Given the description of an element on the screen output the (x, y) to click on. 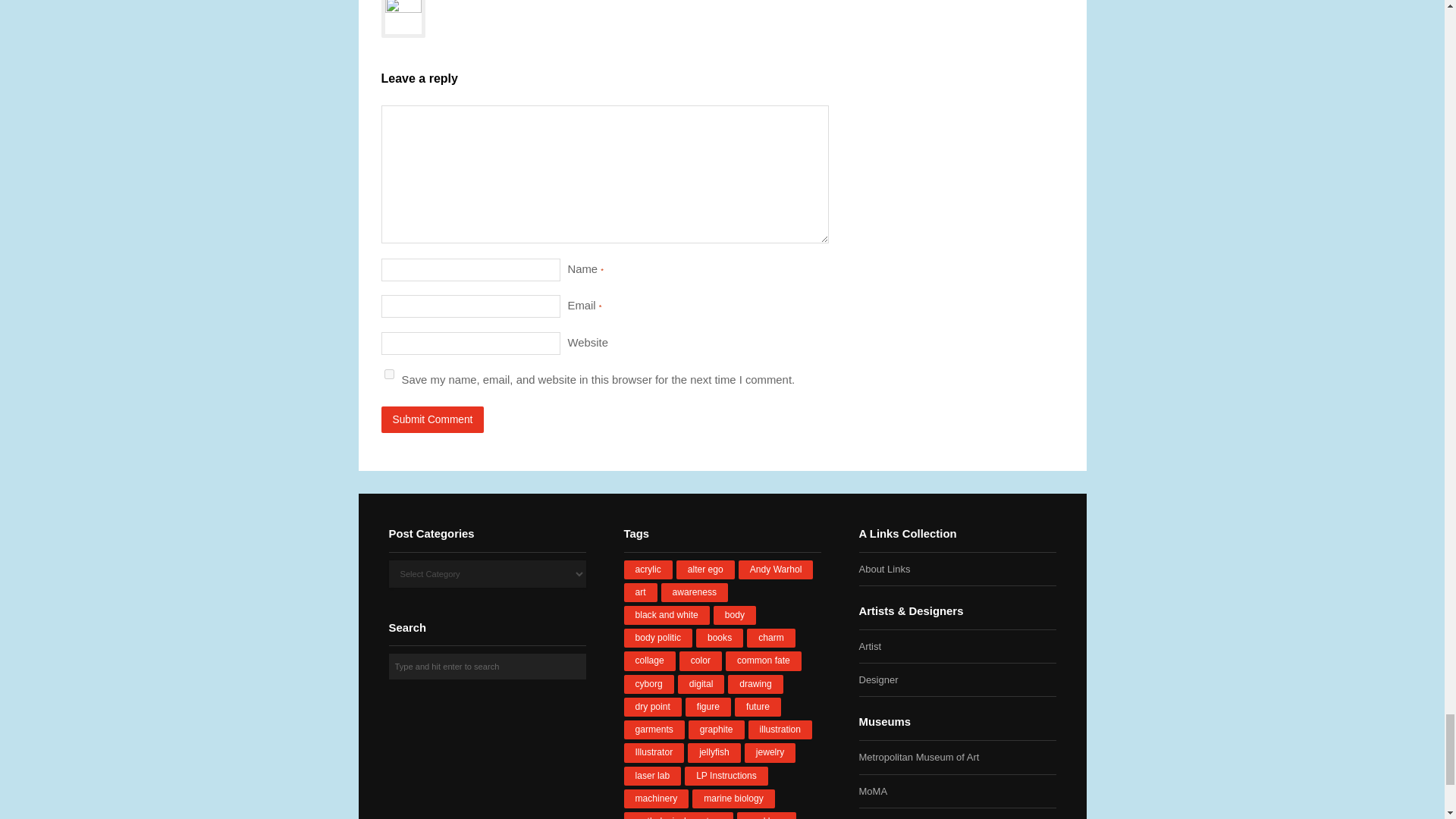
yes (388, 374)
Type and hit enter to search (486, 666)
Type and hit enter to search (486, 666)
Submit Comment (431, 419)
Museum of Modern Art, NY, NY, USA (872, 790)
